Given the description of an element on the screen output the (x, y) to click on. 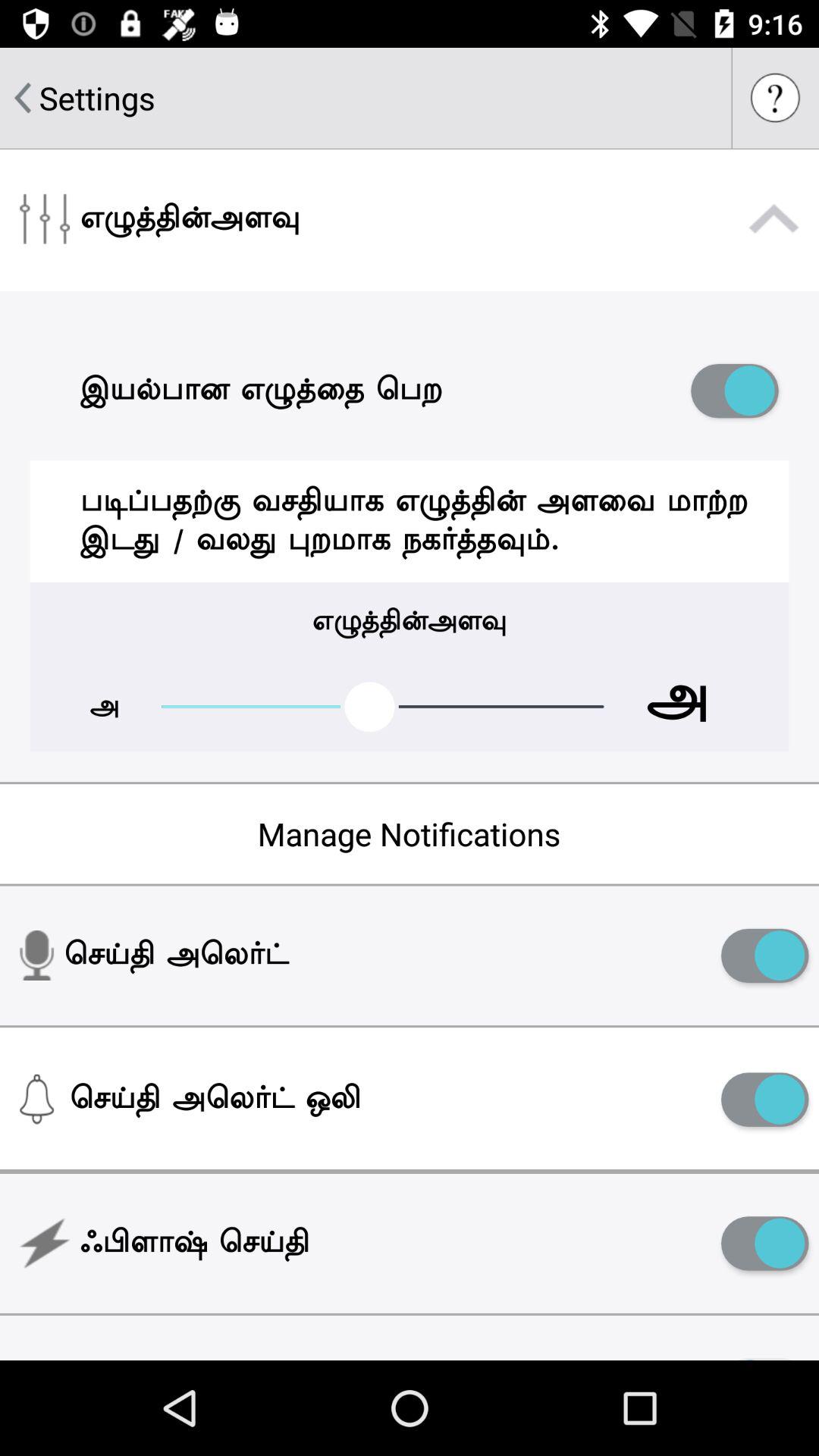
choose the icon to the right of the night mode icon (764, 1355)
